Given the description of an element on the screen output the (x, y) to click on. 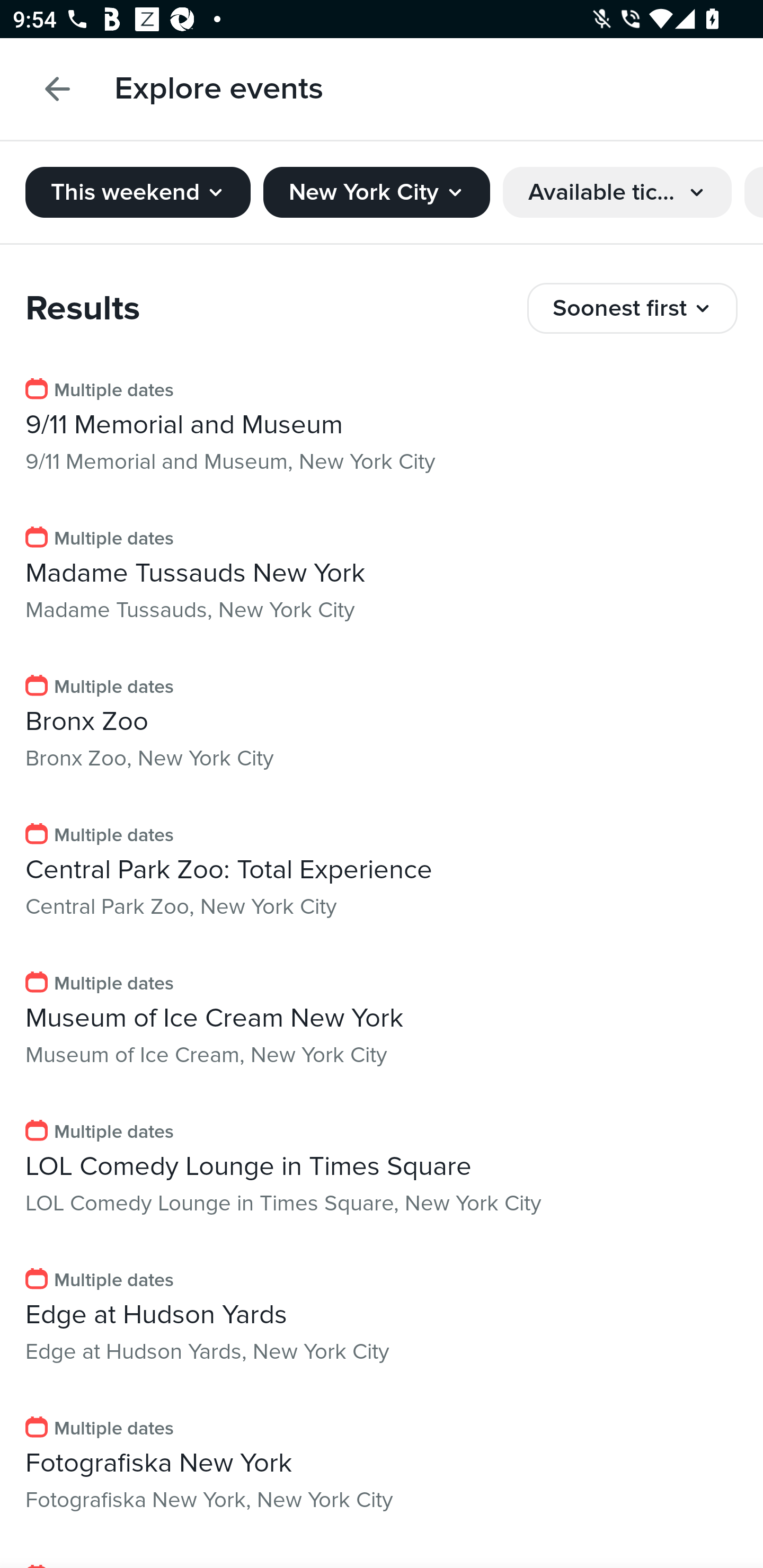
This weekend (137, 191)
New York City (376, 191)
Available tickets (616, 191)
Soonest first (632, 307)
Multiple dates Bronx Zoo Bronx Zoo, New York City (381, 723)
